Given the description of an element on the screen output the (x, y) to click on. 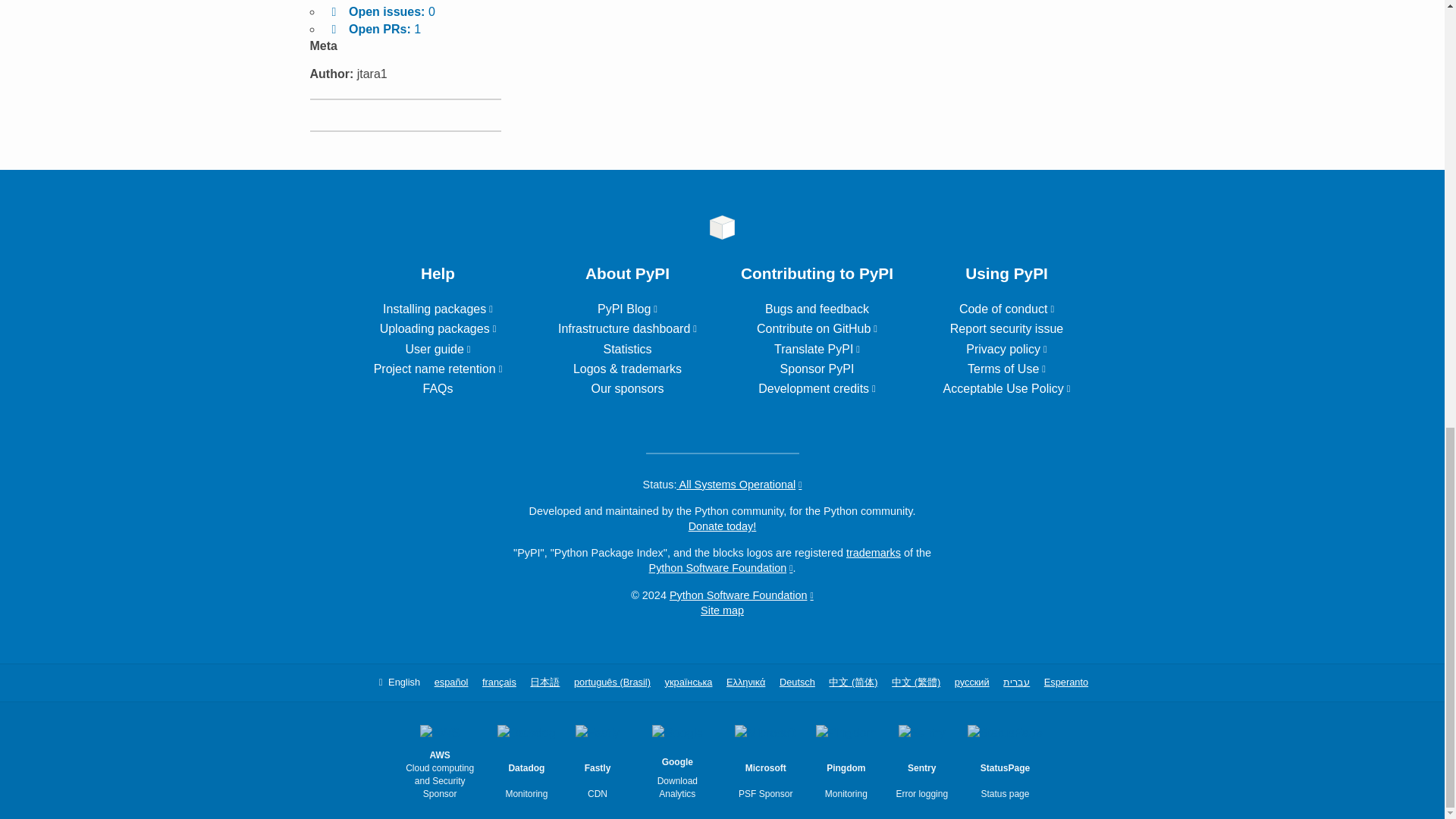
External link (627, 308)
Open issues: 0 (379, 11)
External link (817, 349)
External link (438, 368)
External link (627, 328)
External link (437, 308)
External link (437, 349)
Open PRs: 1 (373, 29)
Forks: 1 (361, 0)
External link (438, 328)
External link (817, 328)
